Given the description of an element on the screen output the (x, y) to click on. 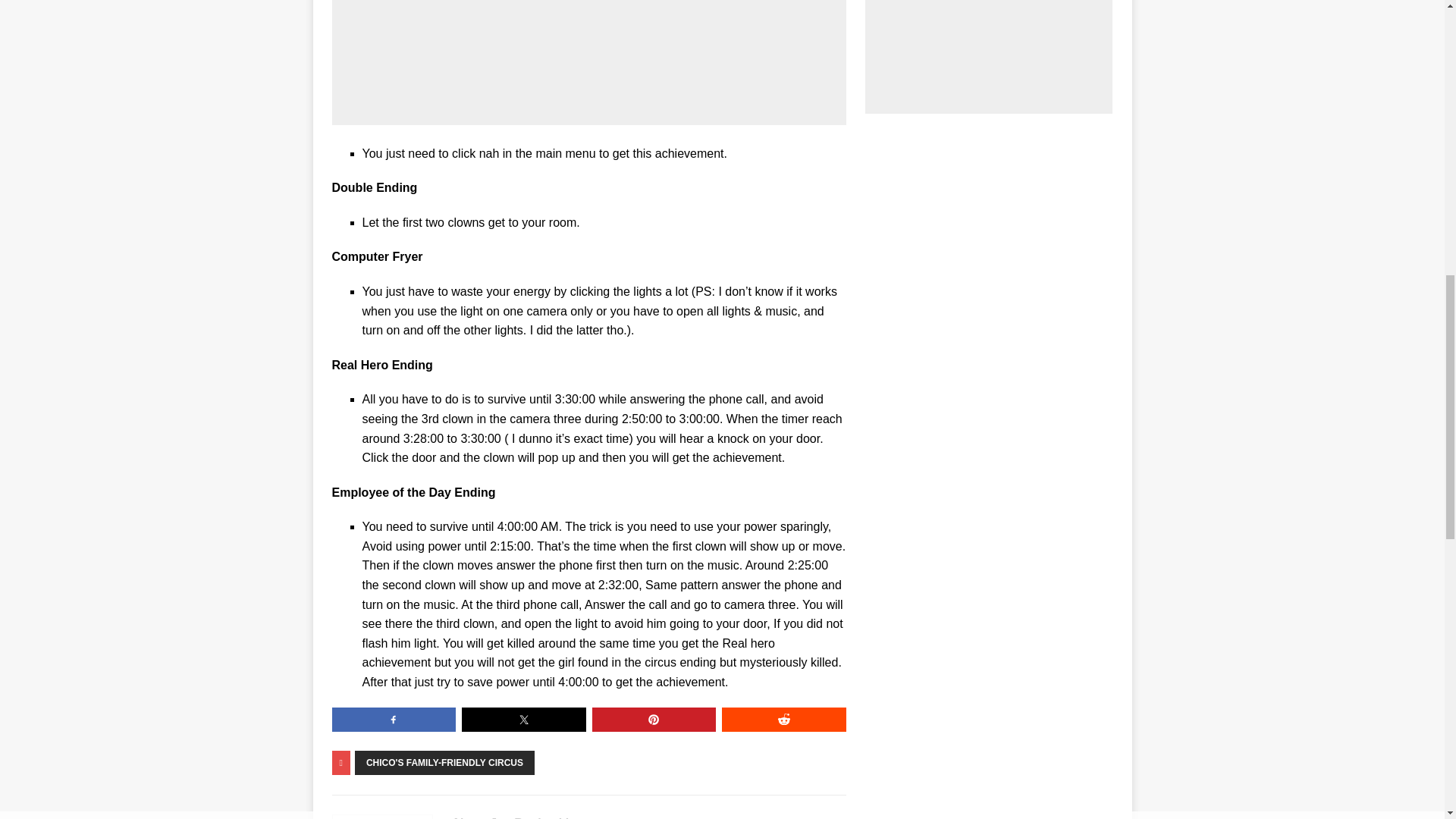
CHICO'S FAMILY-FRIENDLY CIRCUS (444, 762)
